Given the description of an element on the screen output the (x, y) to click on. 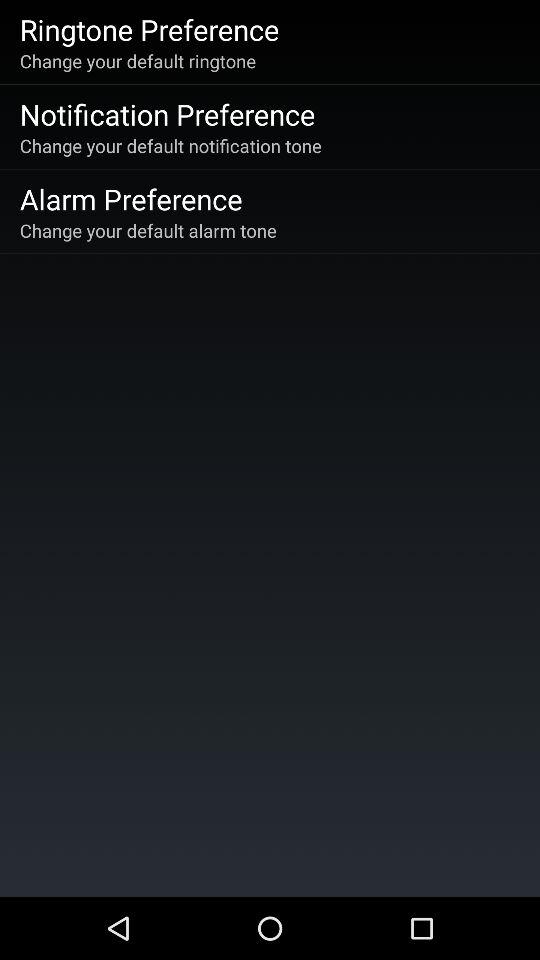
press the alarm preference (130, 198)
